Given the description of an element on the screen output the (x, y) to click on. 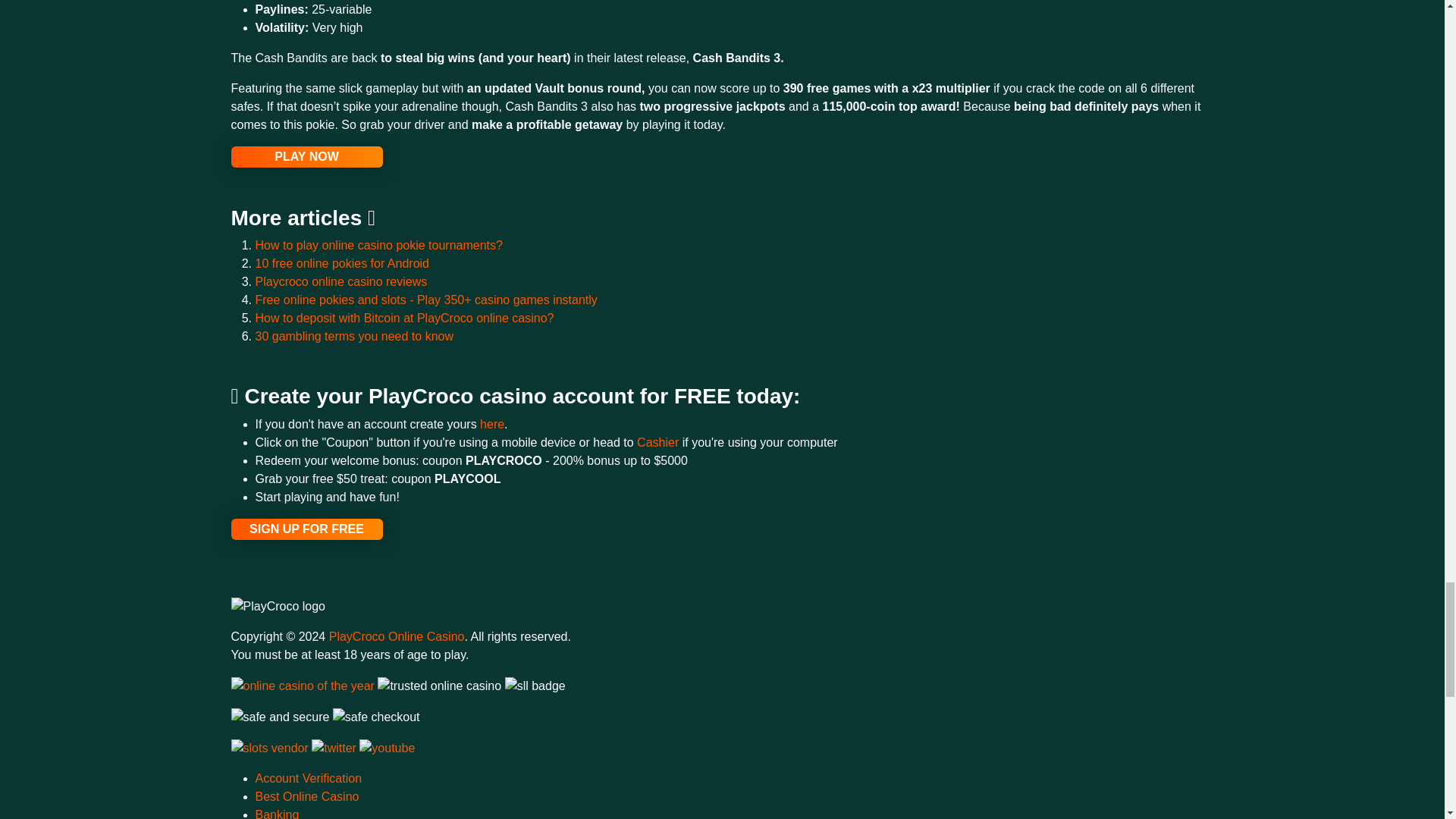
Banking (276, 813)
How to play online casino pokie tournaments? (378, 245)
30 gambling terms you need to know (353, 336)
How to play online casino pokie tournaments? (378, 245)
playcroco casino reviews (340, 281)
10 free online pokies for Android (341, 263)
Cashier (659, 441)
10 free online pokies for Android (341, 263)
here (491, 423)
playcroco online casino pokies and slots (305, 156)
Free online pokies and slots (425, 299)
How to deposit with Bitcoin at PlayCroco online casino? (403, 318)
Playcroco online casino reviews (340, 281)
Best Online Casino (306, 796)
Account Verification (307, 778)
